Given the description of an element on the screen output the (x, y) to click on. 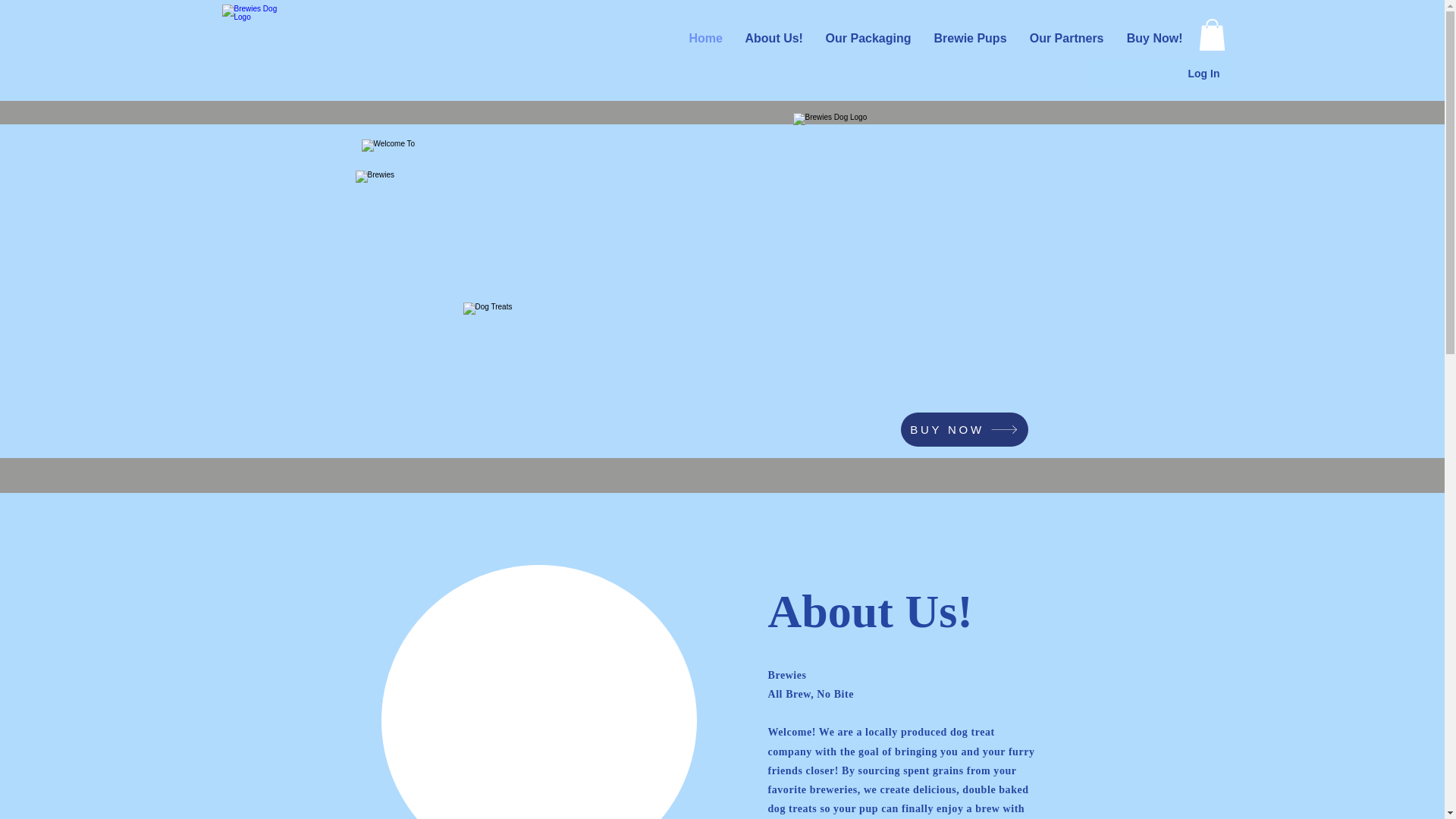
Buy Now! (1156, 38)
Our Packaging (879, 38)
Home (722, 38)
BUY NOW (964, 429)
Log In (1203, 74)
Brewie Pups (977, 38)
Our Partners (1070, 38)
About Us! (789, 38)
